Given the description of an element on the screen output the (x, y) to click on. 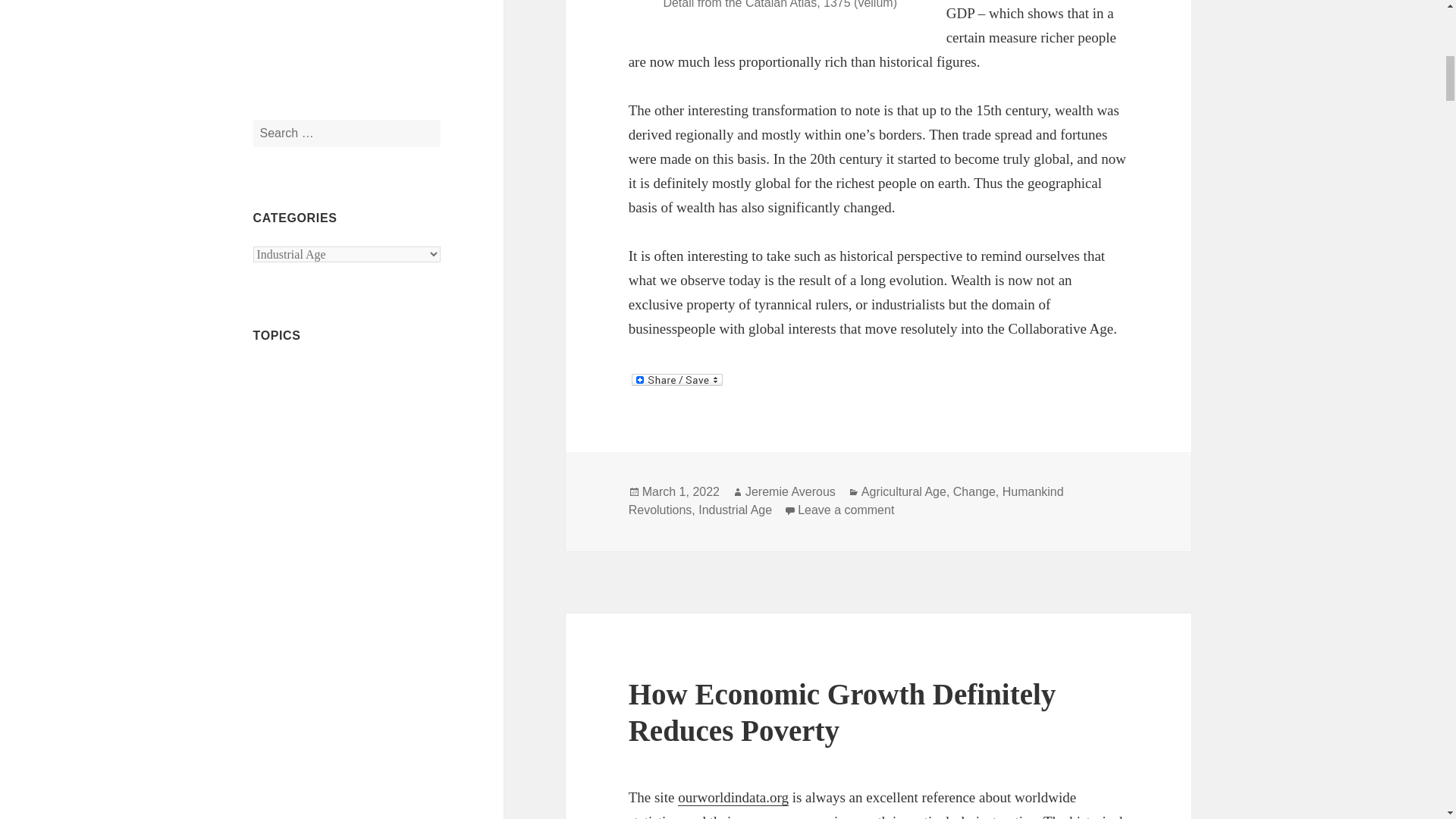
Agricultural Age (293, 396)
Collaborative Age (296, 563)
Fourth Revolution precursors (334, 808)
Career in the Collaborative Age (328, 460)
Collaborative Age value production system (333, 622)
creativity (381, 687)
complexity (296, 687)
